Given the description of an element on the screen output the (x, y) to click on. 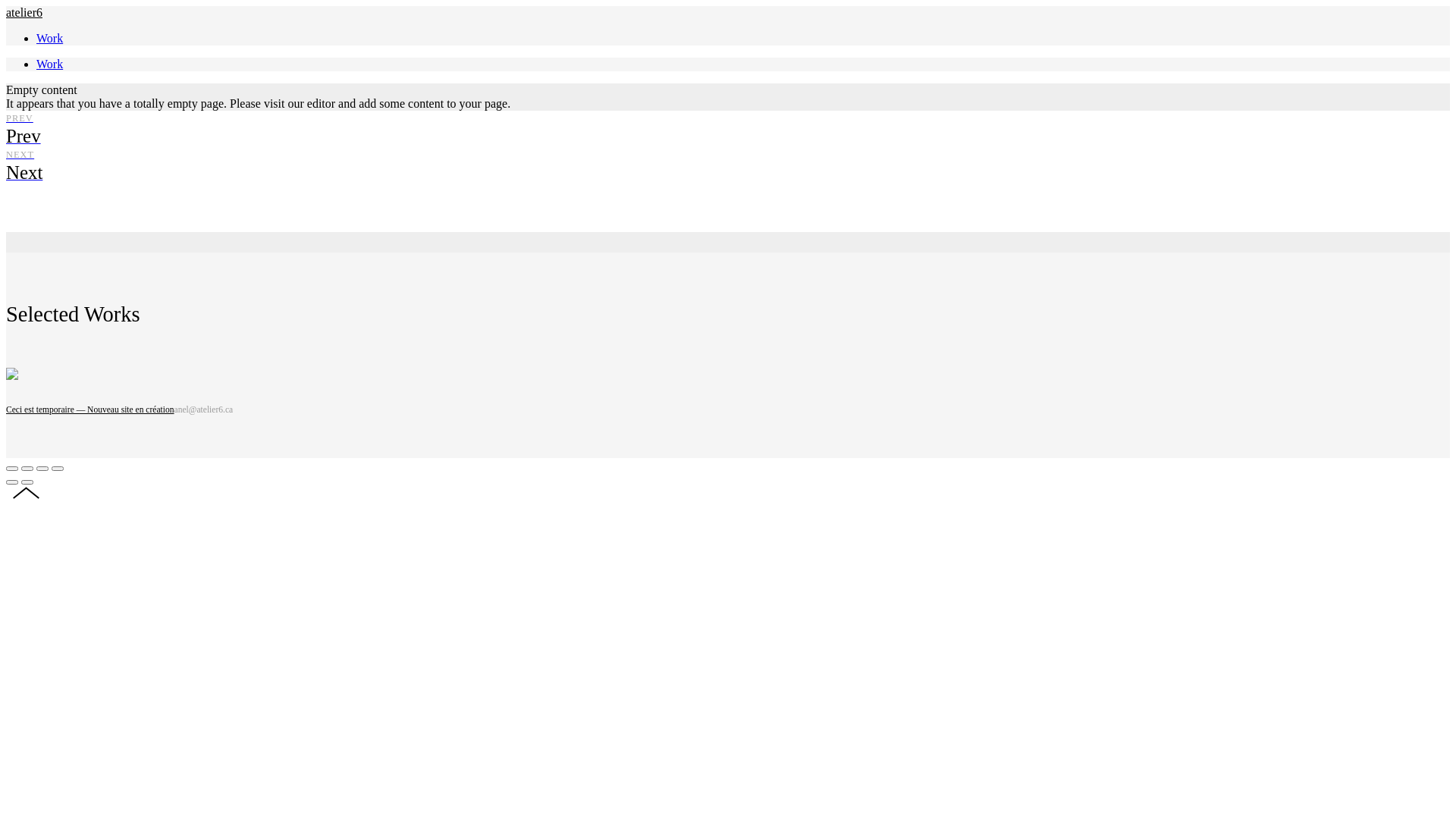
PREV
Prev Element type: text (727, 128)
Next (arrow right) Element type: hover (27, 481)
Share Element type: hover (27, 467)
Zoom in/out Element type: hover (57, 467)
NEXT
Next Element type: text (727, 165)
Work Element type: text (49, 63)
Toggle fullscreen Element type: hover (42, 467)
Work Element type: text (49, 37)
Previous (arrow left) Element type: hover (12, 481)
atelier6 Element type: text (24, 12)
Close (Esc) Element type: hover (12, 467)
